Given the description of an element on the screen output the (x, y) to click on. 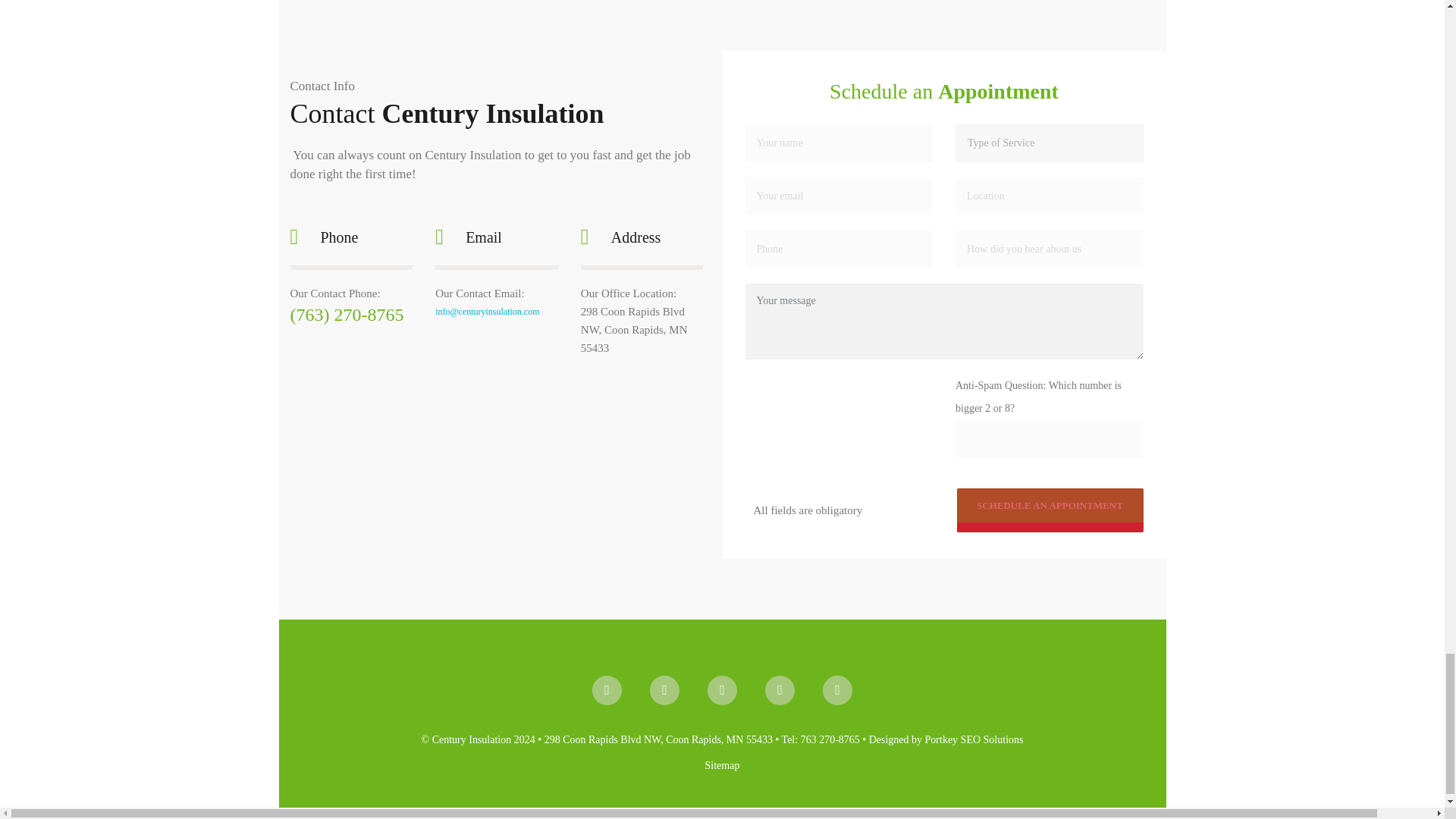
Schedule an Appointment (1049, 504)
